Given the description of an element on the screen output the (x, y) to click on. 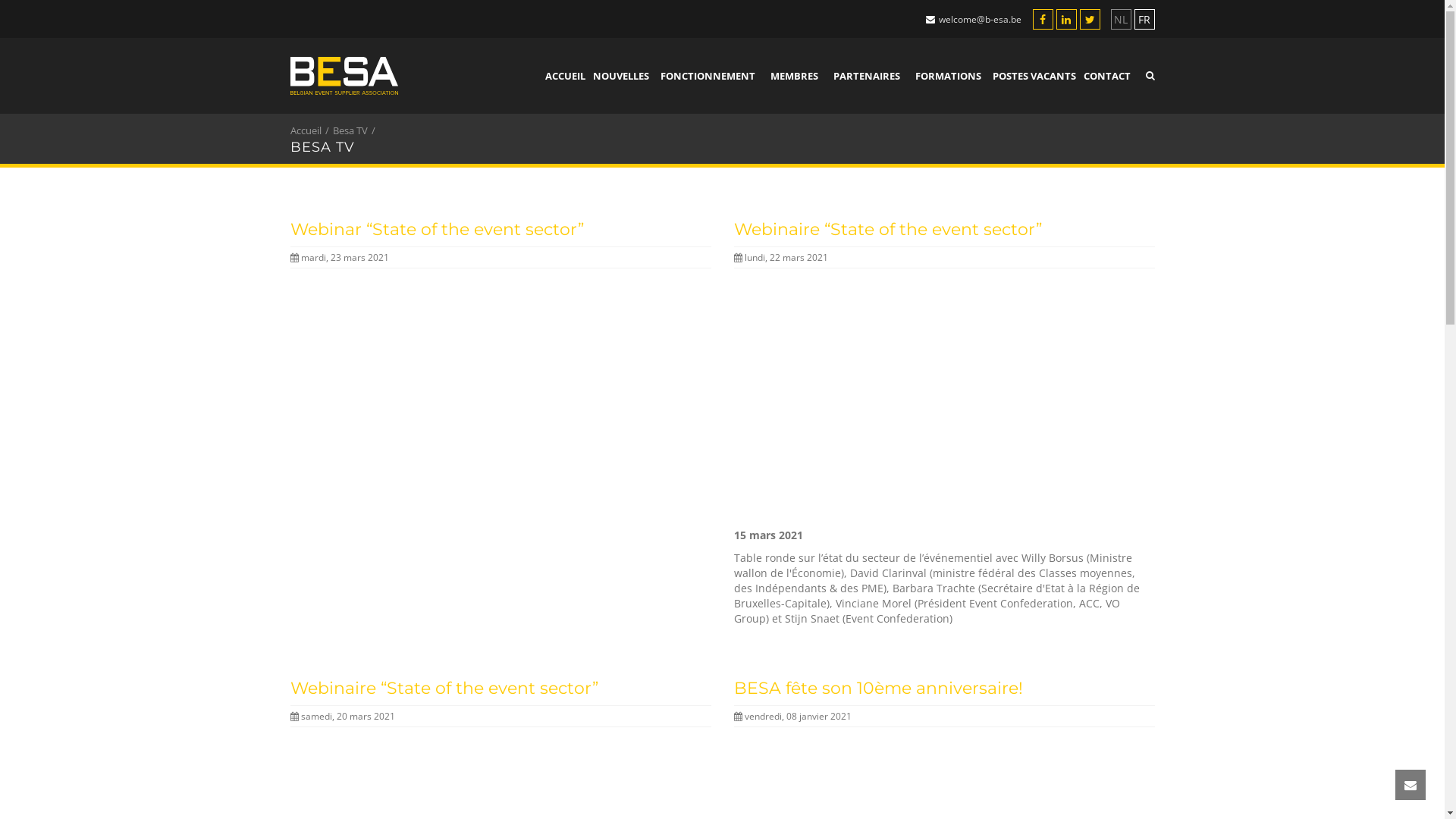
FR Element type: text (1144, 19)
welcome@b-esa.be Element type: text (979, 18)
Accueil Element type: text (308, 130)
JoomlaWorks AllVideos Player Element type: hover (944, 398)
JoomlaWorks AllVideos Player Element type: hover (499, 398)
NOUVELLES Element type: text (620, 75)
ACCUEIL Element type: text (565, 75)
Besa TV Element type: text (353, 130)
POSTES VACANTS Element type: text (1033, 75)
NL Element type: text (1120, 19)
CONTACT Element type: text (1104, 75)
